Given the description of an element on the screen output the (x, y) to click on. 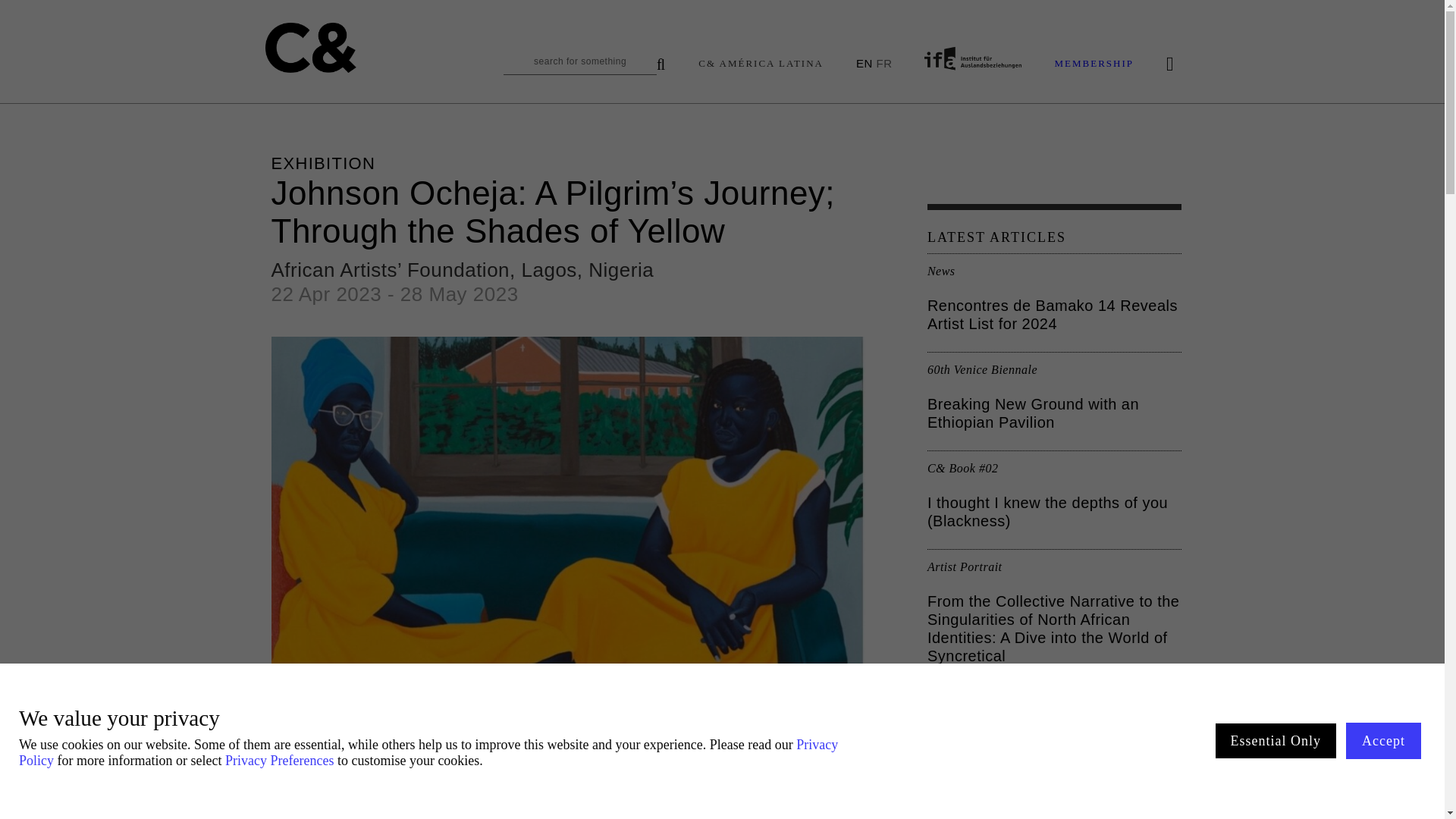
EN (864, 62)
MEMBERSHIP (1094, 63)
FR (883, 62)
search for something (584, 65)
